Given the description of an element on the screen output the (x, y) to click on. 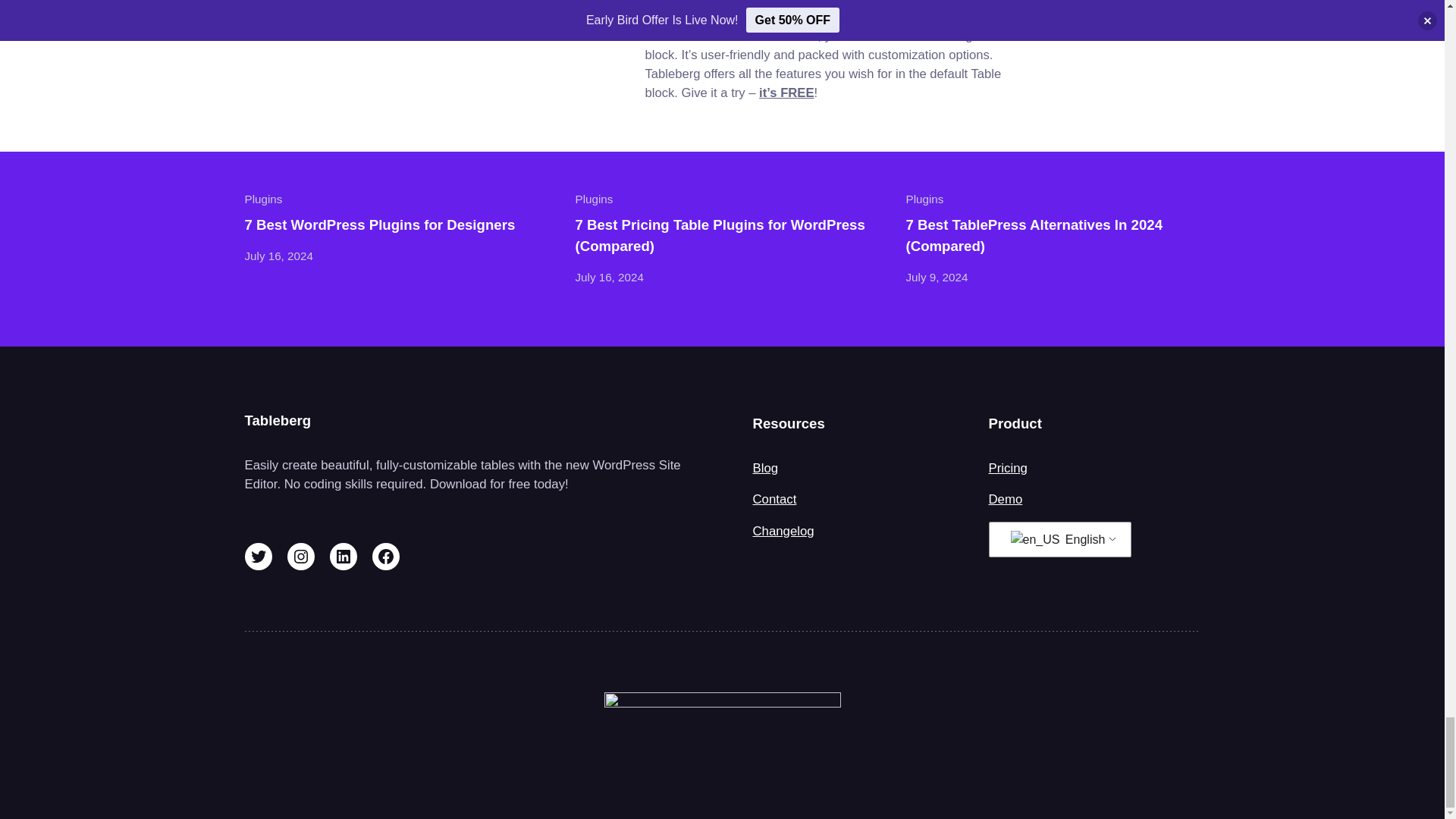
Plugins (263, 198)
Instagram (300, 556)
LinkedIn (342, 556)
Facebook (384, 556)
English (1056, 539)
English (1034, 539)
Blog (764, 468)
Plugins (593, 198)
Twitter (257, 556)
Contact (774, 499)
7 Best WordPress Plugins for Designers (379, 224)
Plugins (924, 198)
